Given the description of an element on the screen output the (x, y) to click on. 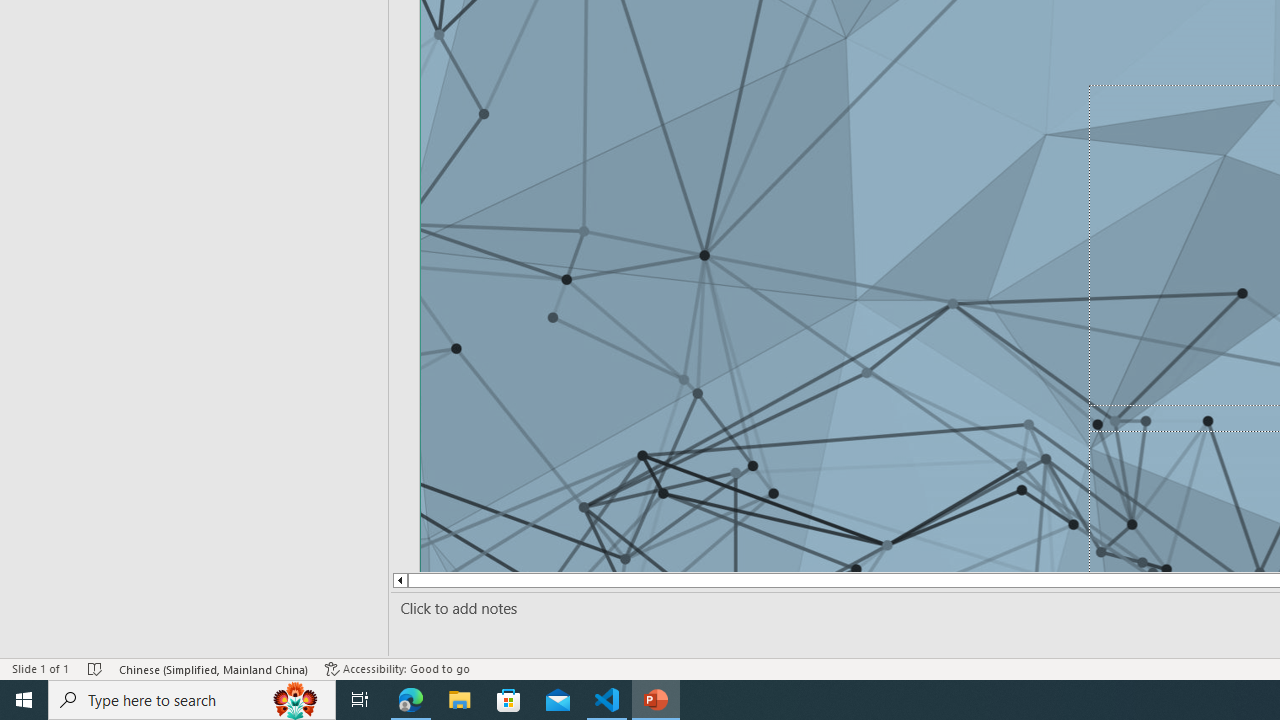
Accessibility Checker Accessibility: Good to go (397, 668)
Spell Check No Errors (95, 668)
